Given the description of an element on the screen output the (x, y) to click on. 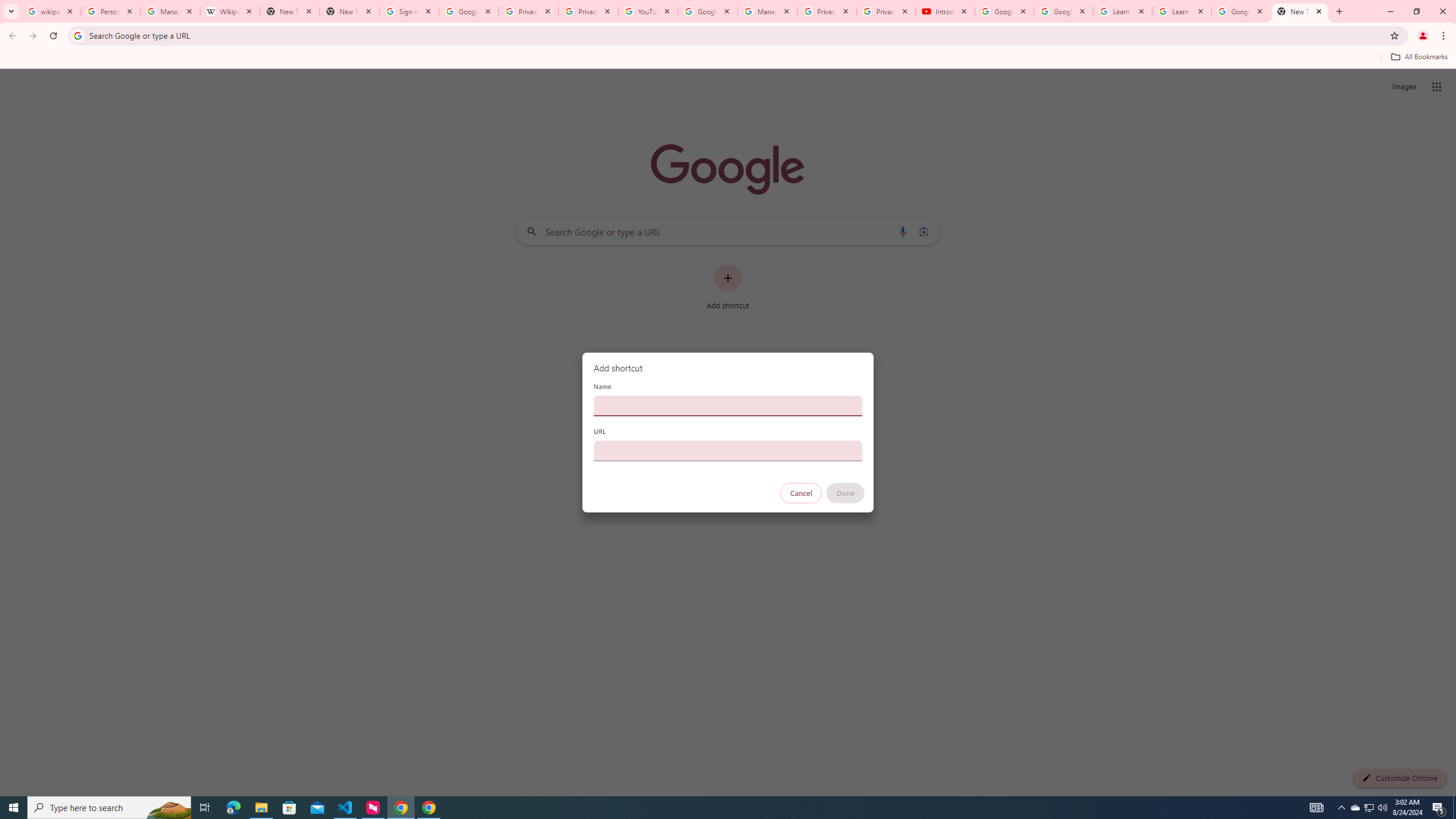
Manage your Location History - Google Search Help (170, 11)
Name (727, 405)
Introduction | Google Privacy Policy - YouTube (944, 11)
YouTube (647, 11)
Google Account Help (1063, 11)
Cancel (801, 493)
Wikipedia:Edit requests - Wikipedia (229, 11)
